Given the description of an element on the screen output the (x, y) to click on. 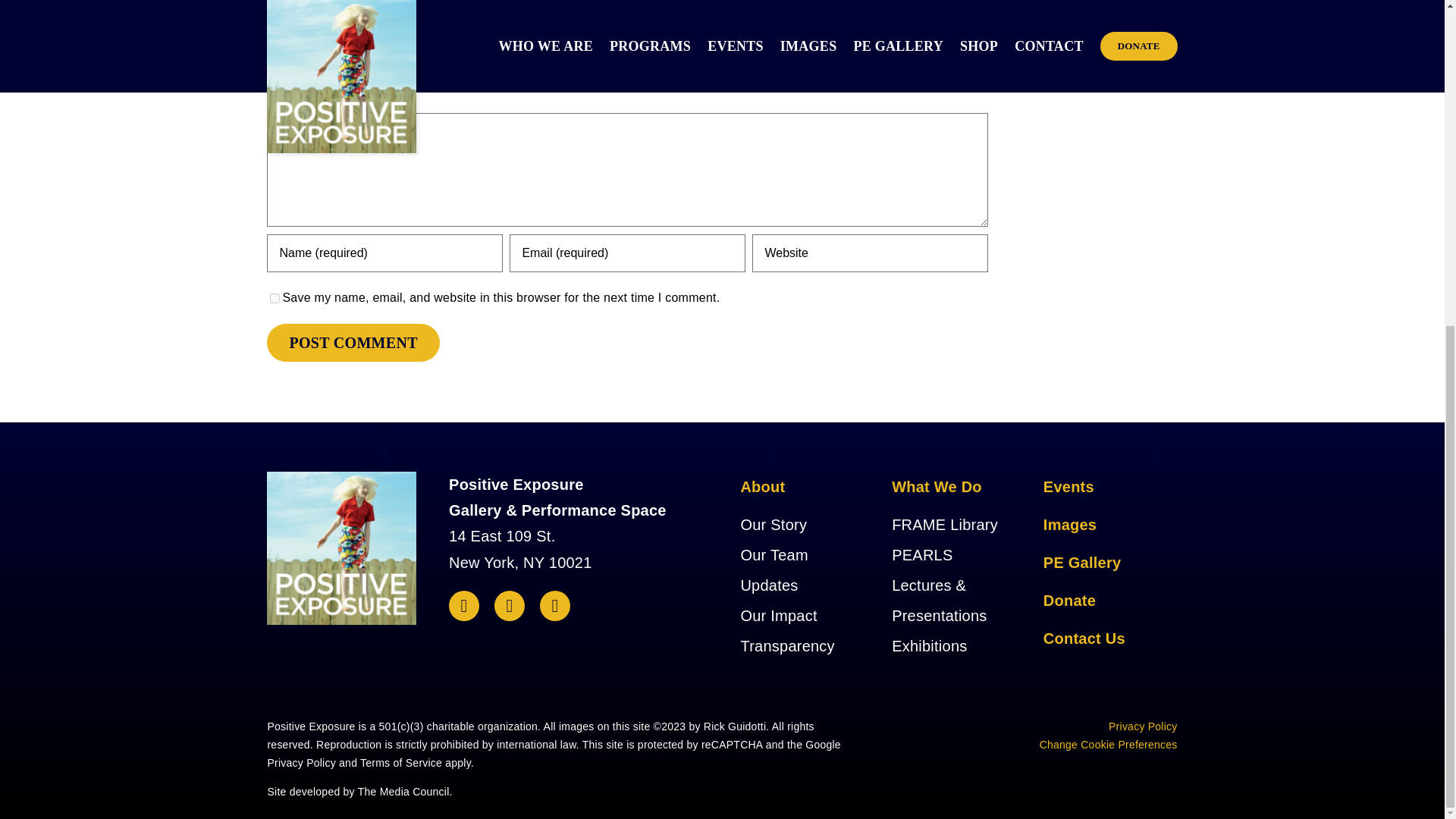
Post Comment (352, 342)
Facebook (463, 605)
yes (274, 298)
Our Story (772, 524)
Our Team (773, 555)
Instagram (555, 605)
Updates (768, 585)
Post Comment (352, 342)
X (509, 605)
